Given the description of an element on the screen output the (x, y) to click on. 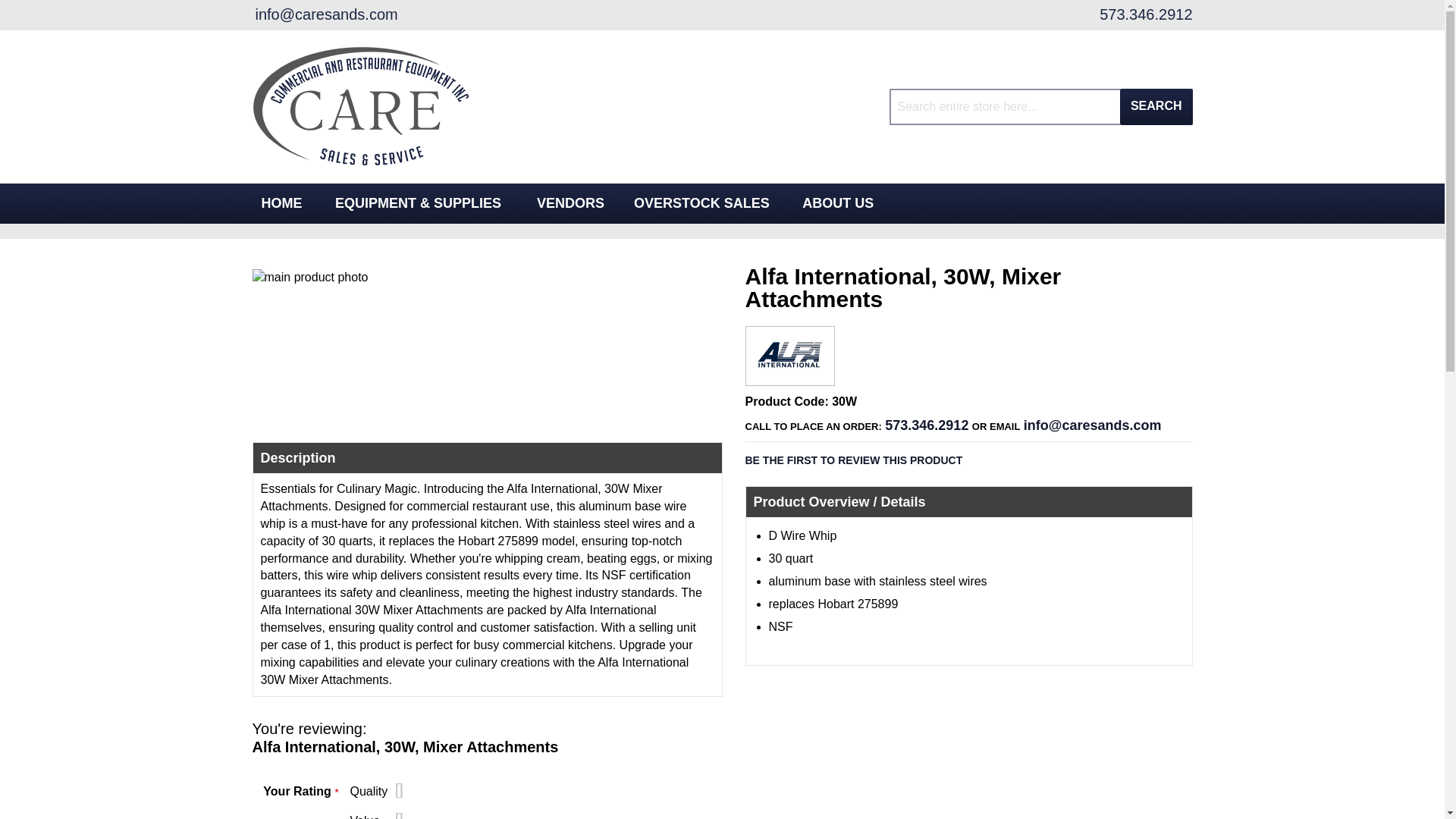
Alfa International (790, 373)
SEARCH (1155, 106)
HOME (281, 203)
Care Sales Restaurant Equipment (359, 106)
